Given the description of an element on the screen output the (x, y) to click on. 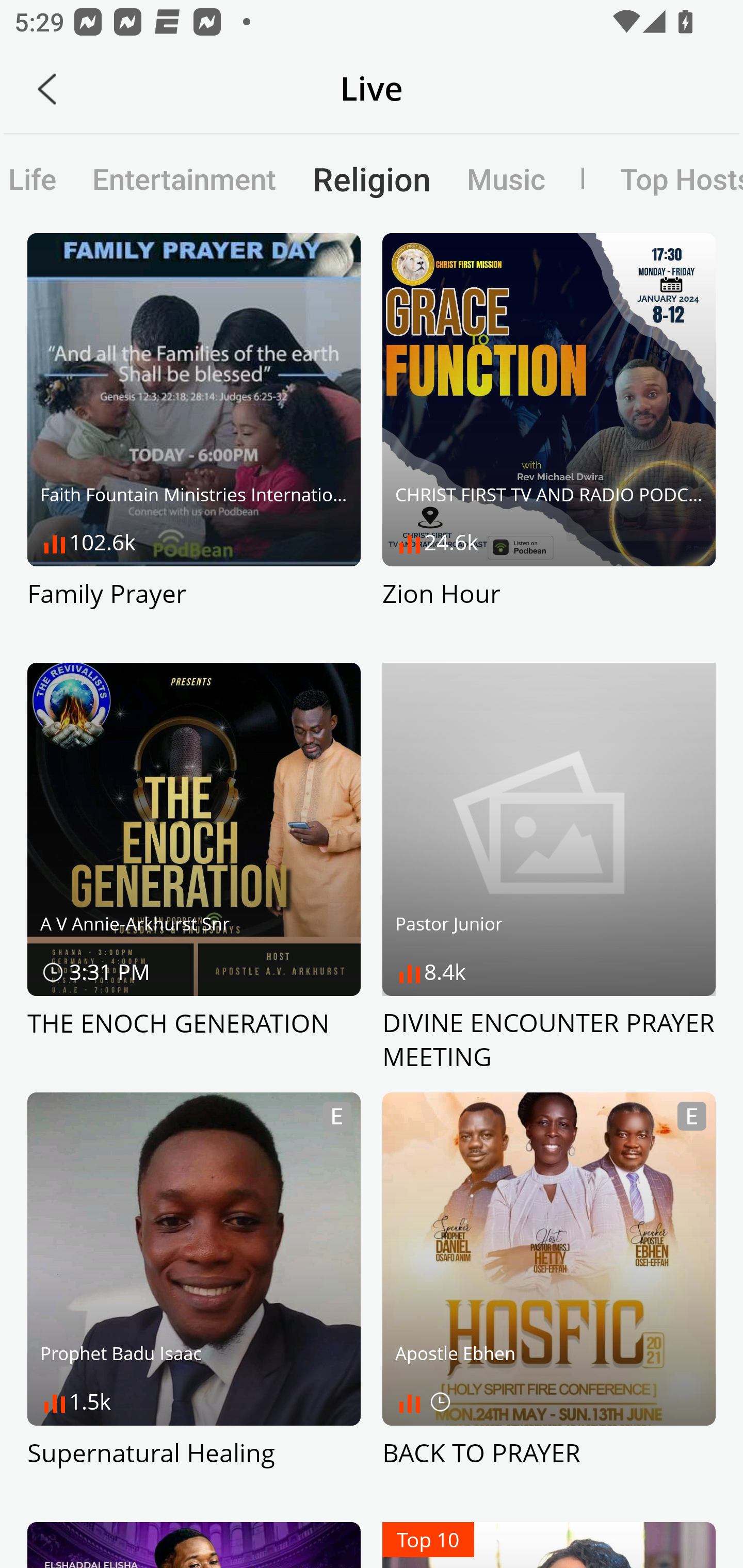
Back (46, 88)
Life (37, 178)
Entertainment (184, 178)
Music (505, 178)
Prophet Badu Isaac 1.5k Supernatural Healing  (193, 1297)
Apostle Ebhen BACK TO PRAYER (548, 1297)
